Given the description of an element on the screen output the (x, y) to click on. 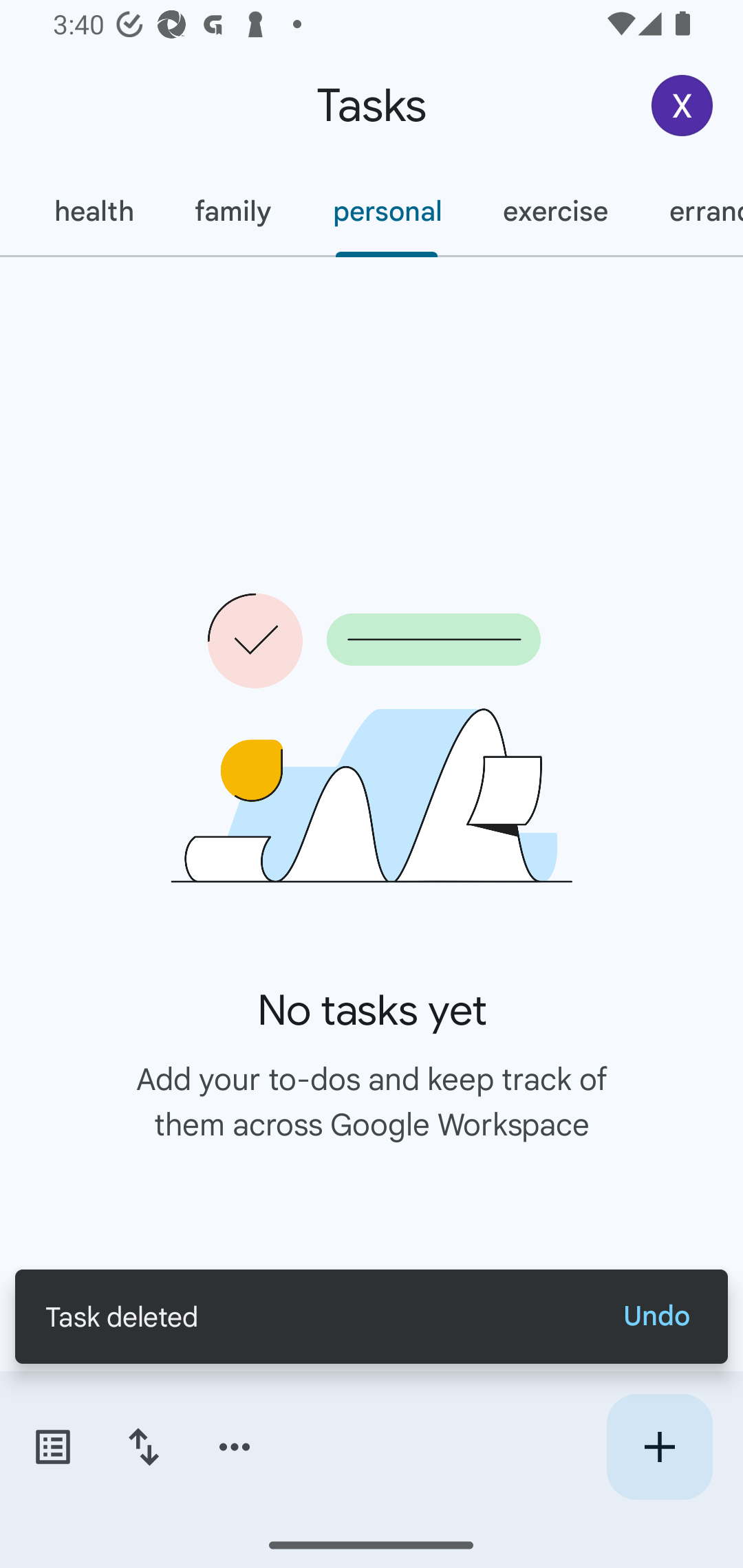
health (93, 211)
family (232, 211)
exercise (554, 211)
errands (690, 211)
Undo (656, 1316)
Switch task lists (52, 1447)
Create new task (659, 1446)
Change sort order (143, 1446)
More options (234, 1446)
